Given the description of an element on the screen output the (x, y) to click on. 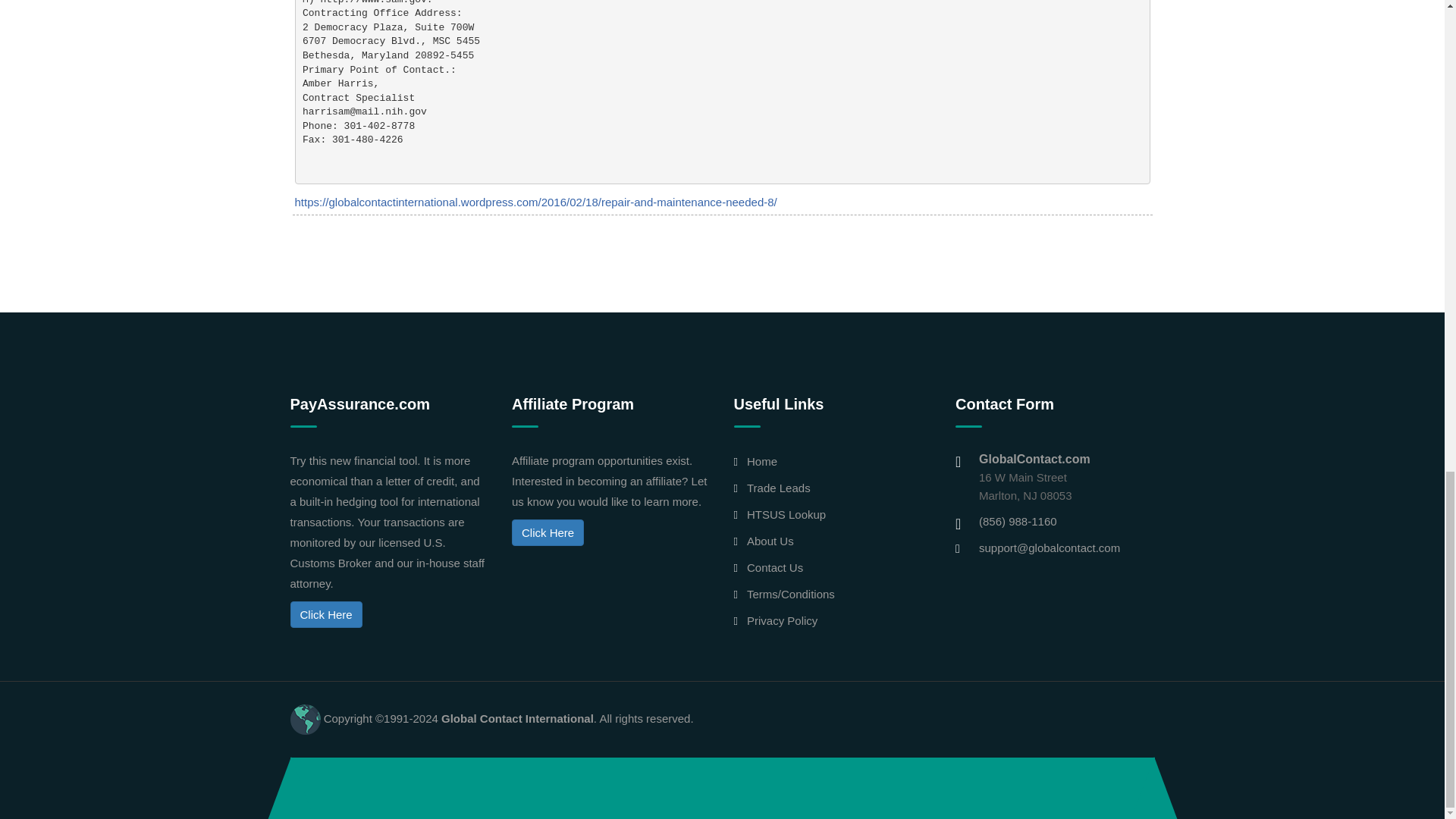
Contact Us (774, 567)
Trade Leads (778, 487)
Privacy Policy (781, 620)
Home (761, 461)
Click Here (547, 532)
HTSUS Lookup (785, 513)
Click Here (325, 614)
Global Contact International (517, 717)
About Us (769, 540)
